Given the description of an element on the screen output the (x, y) to click on. 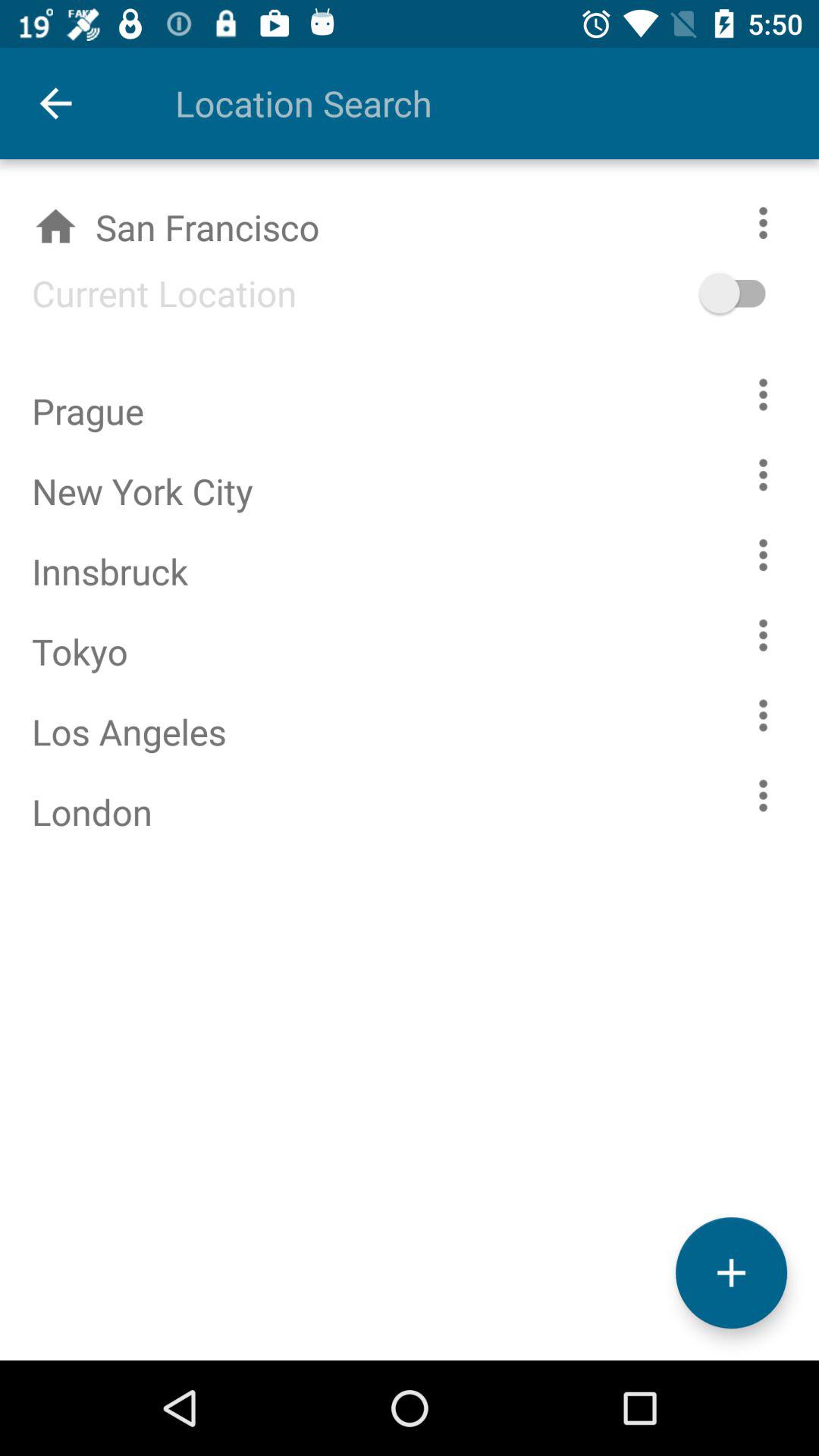
more options (763, 554)
